Given the description of an element on the screen output the (x, y) to click on. 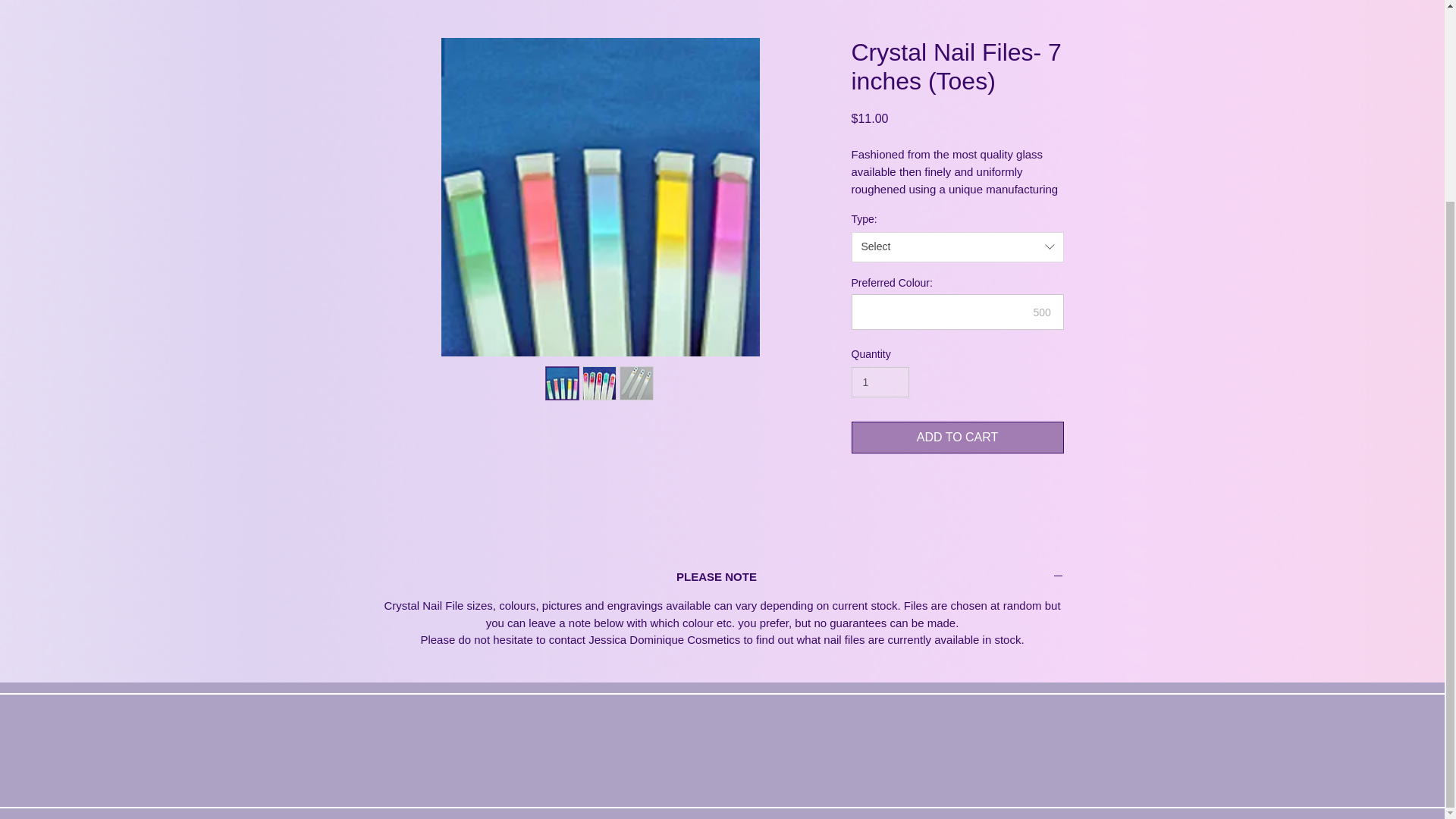
ADD TO CART (956, 437)
PLEASE NOTE (721, 577)
Select (956, 246)
1 (879, 382)
